Given the description of an element on the screen output the (x, y) to click on. 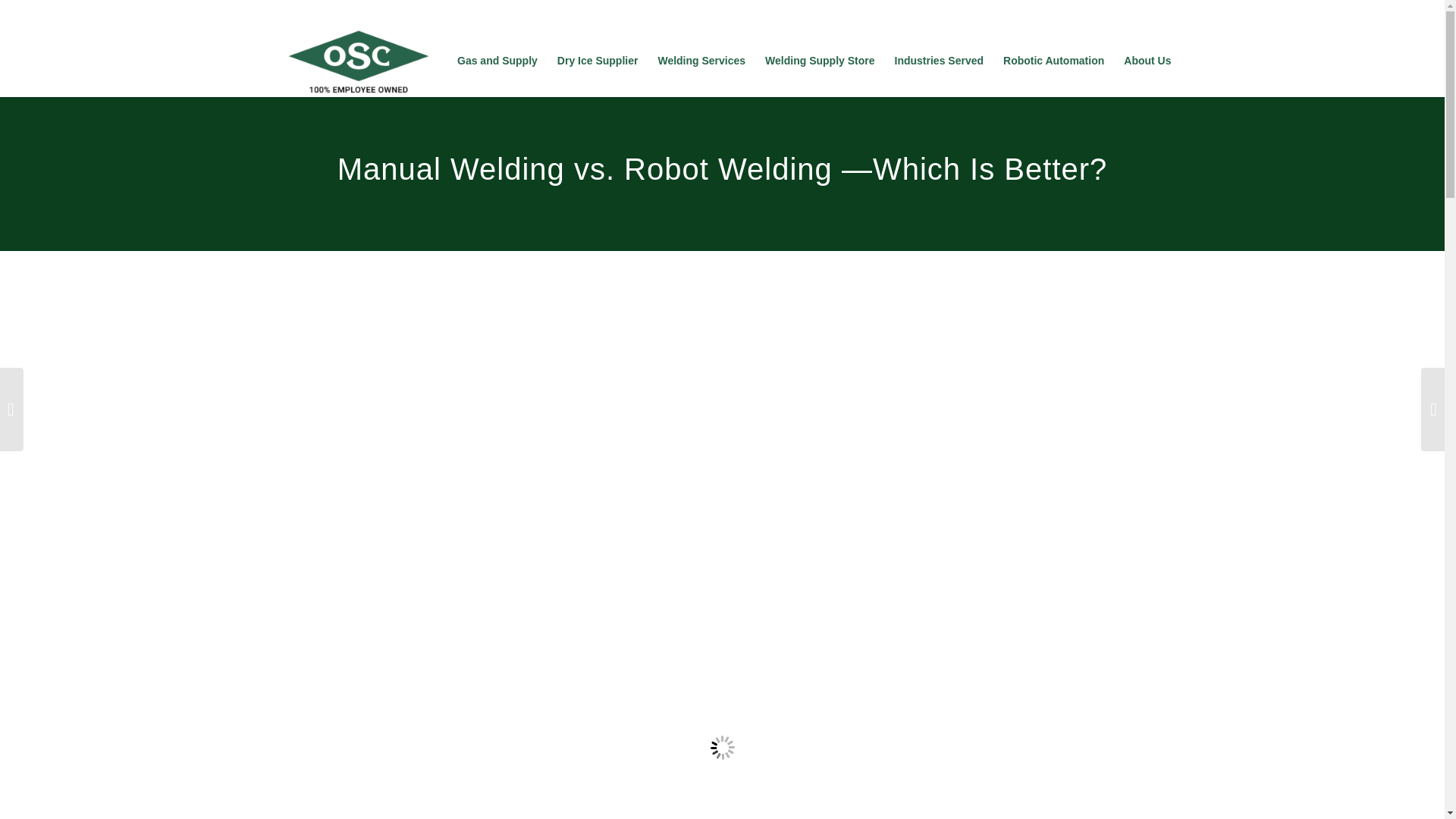
Contact (856, 11)
Facebook (312, 13)
Buy Now (1149, 11)
X (335, 13)
Dry Ice Supplier (597, 61)
Credit Application (1009, 11)
SDS Library (923, 11)
Careers (1088, 11)
Gas and Supply (496, 61)
